Given the description of an element on the screen output the (x, y) to click on. 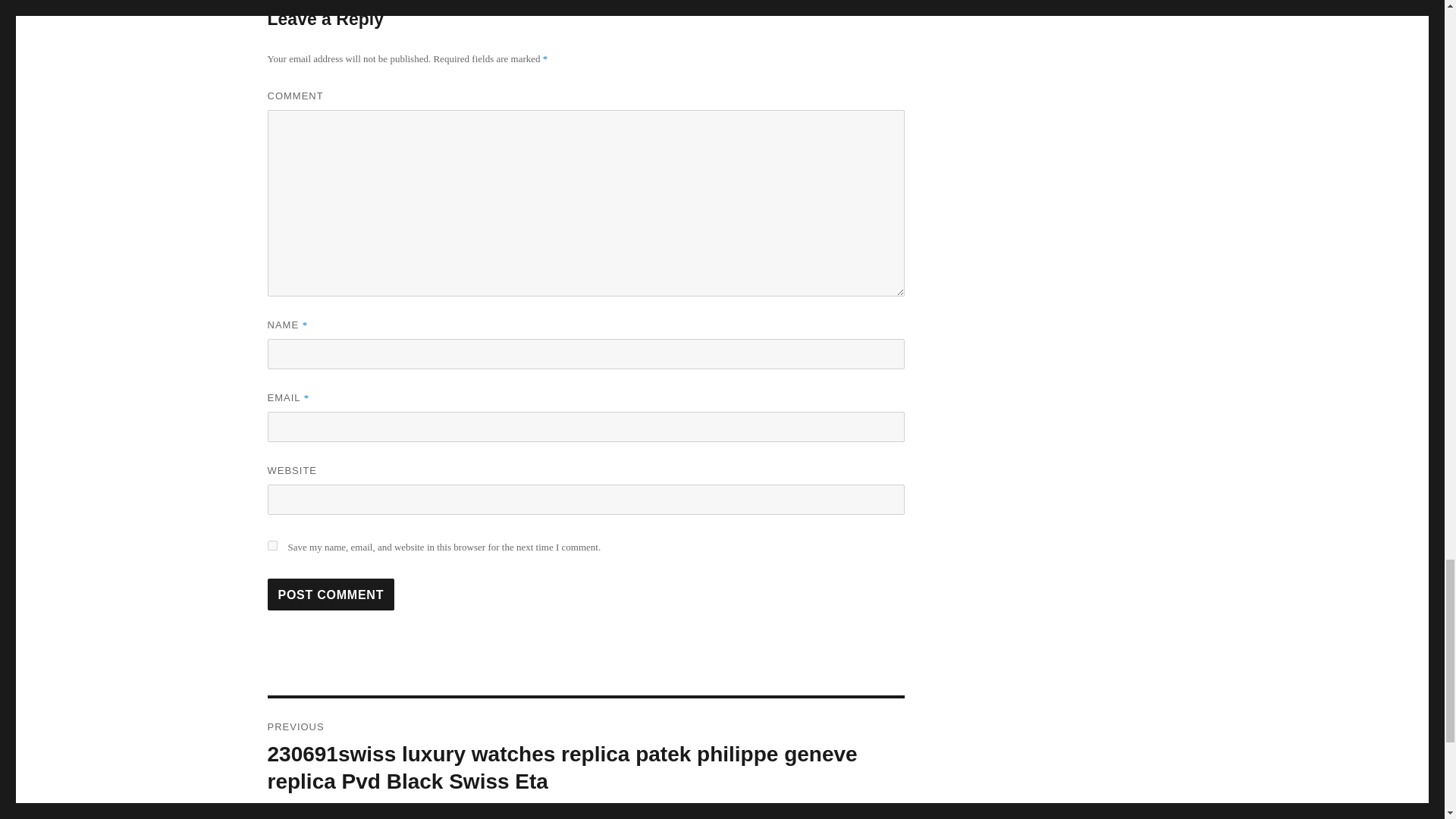
Post Comment (330, 594)
yes (271, 545)
Post Comment (330, 594)
